Given the description of an element on the screen output the (x, y) to click on. 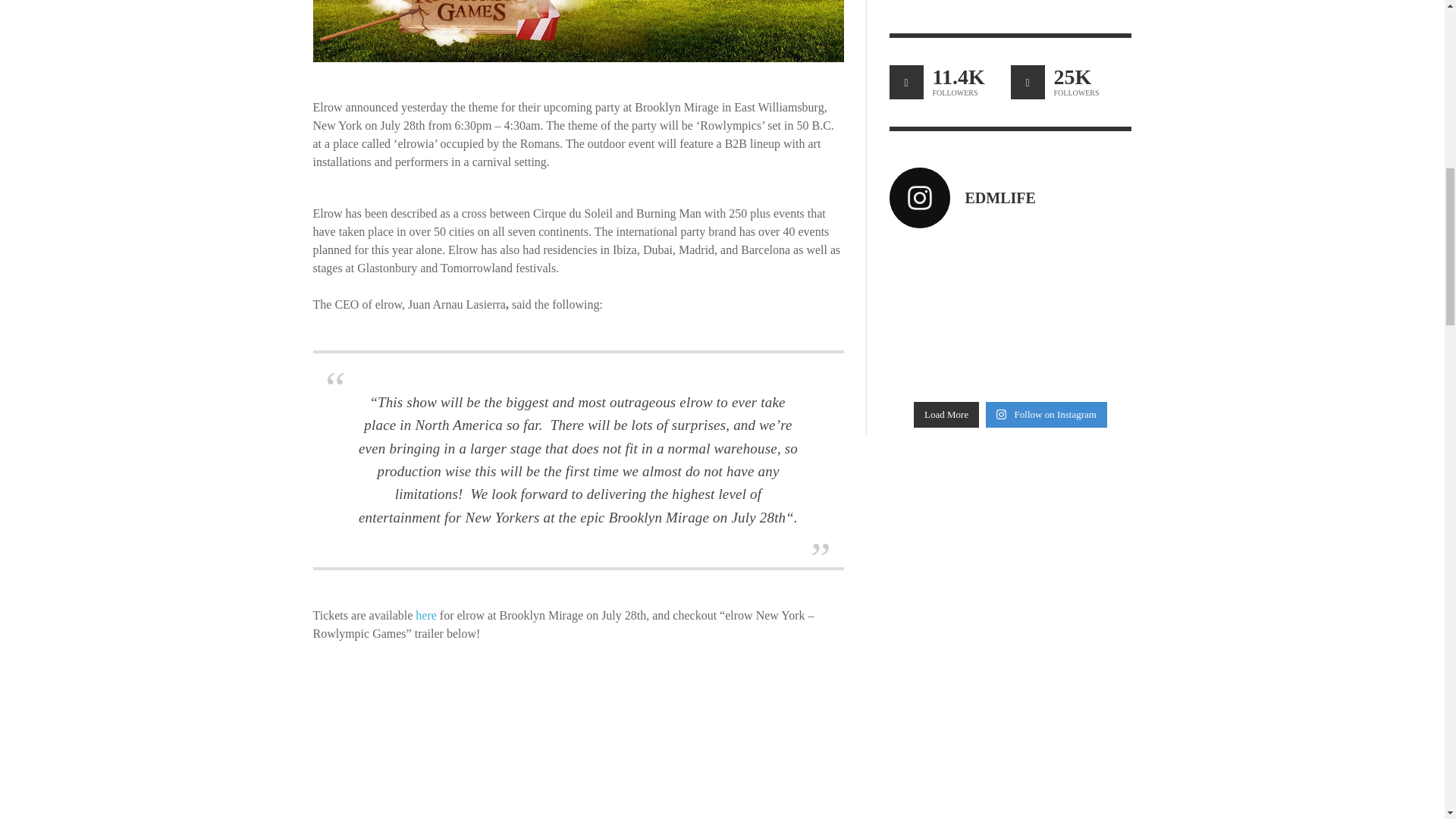
here (425, 615)
